Given the description of an element on the screen output the (x, y) to click on. 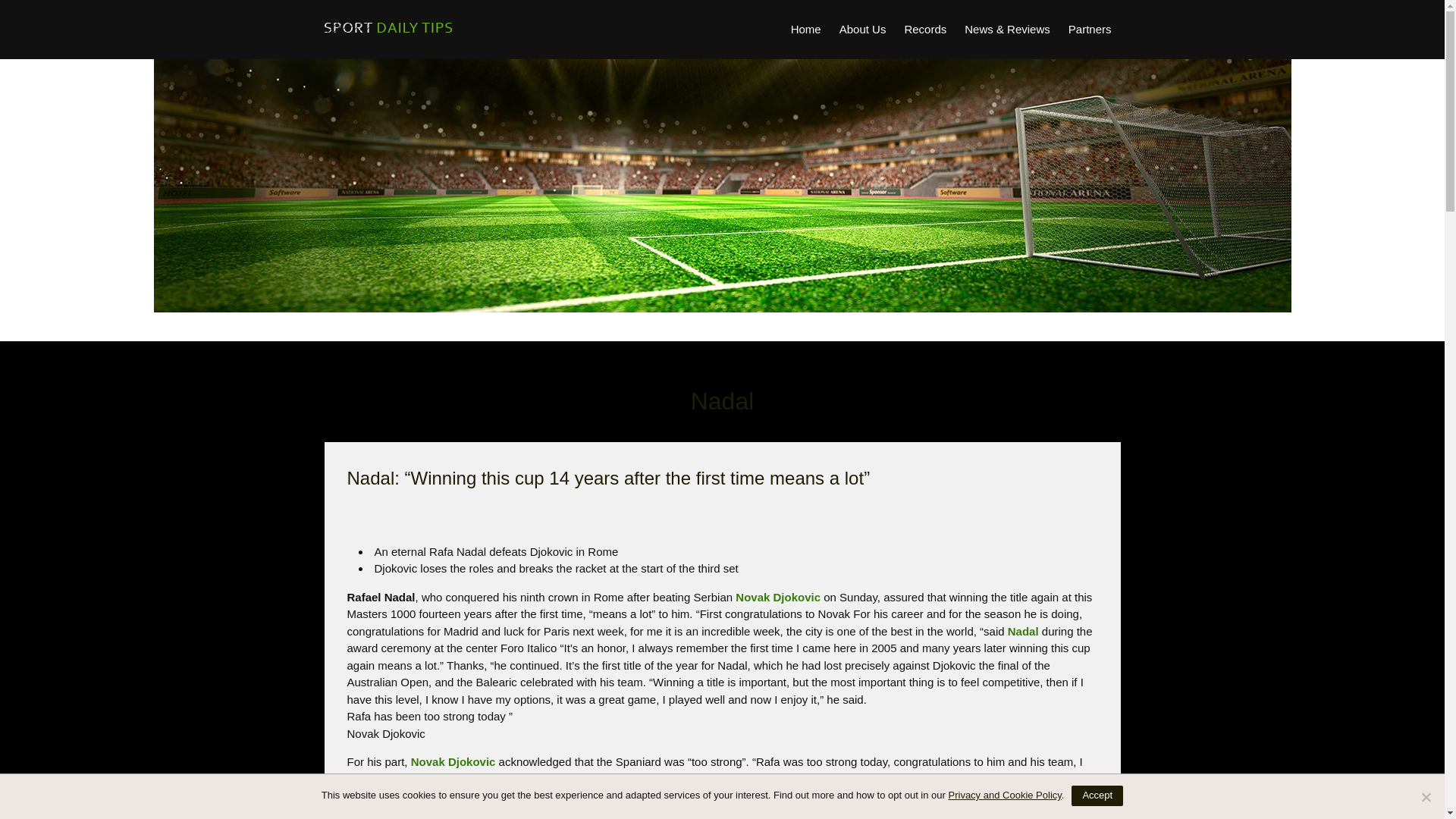
Home (805, 29)
About Us (862, 29)
No (1425, 795)
Records (925, 29)
Nadal (1023, 631)
Novak Djokovic (453, 761)
Partners (1090, 29)
Novak Djokovic (779, 595)
